Given the description of an element on the screen output the (x, y) to click on. 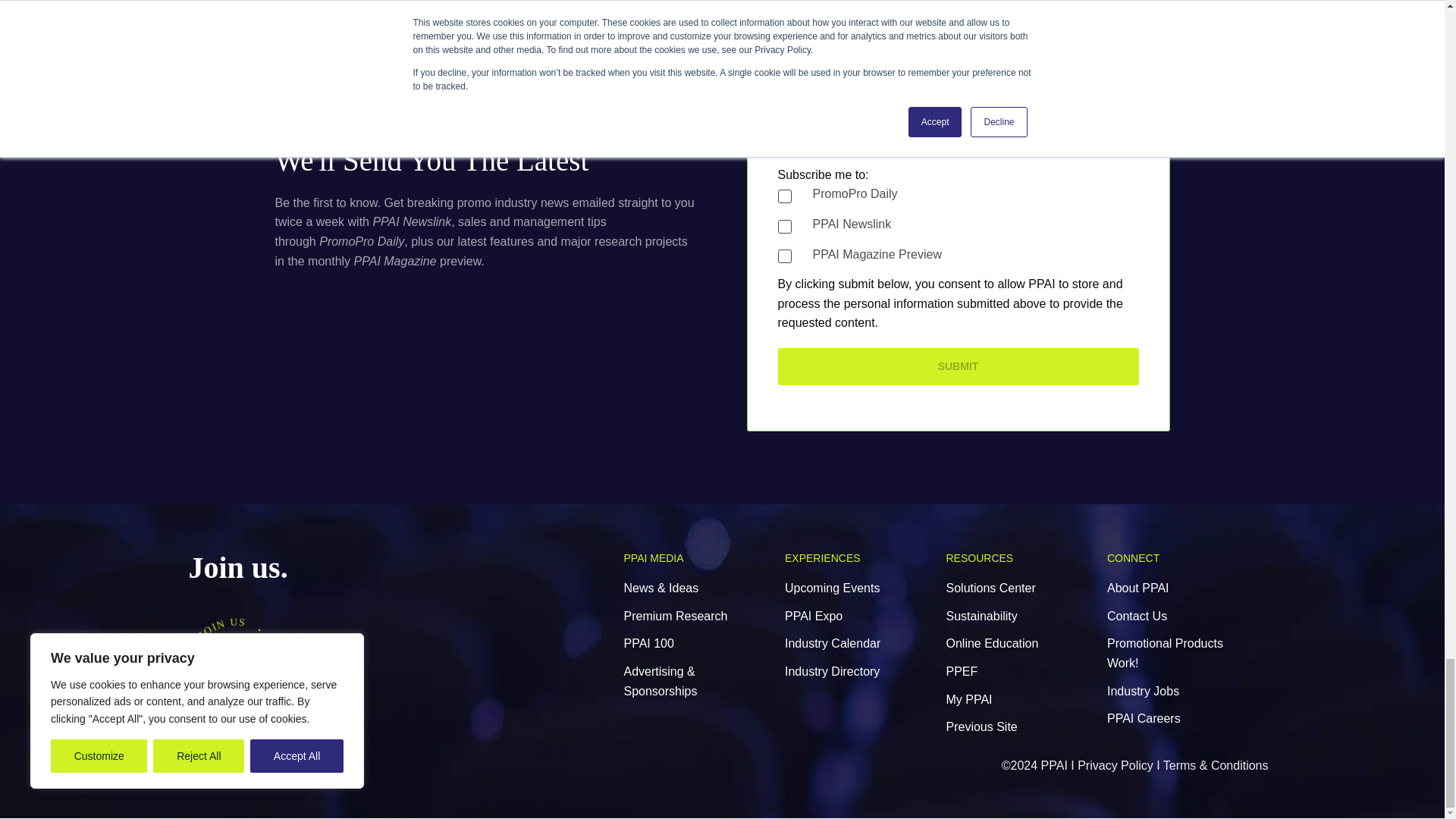
Submit (957, 366)
true (784, 196)
true (784, 255)
true (784, 226)
